Given the description of an element on the screen output the (x, y) to click on. 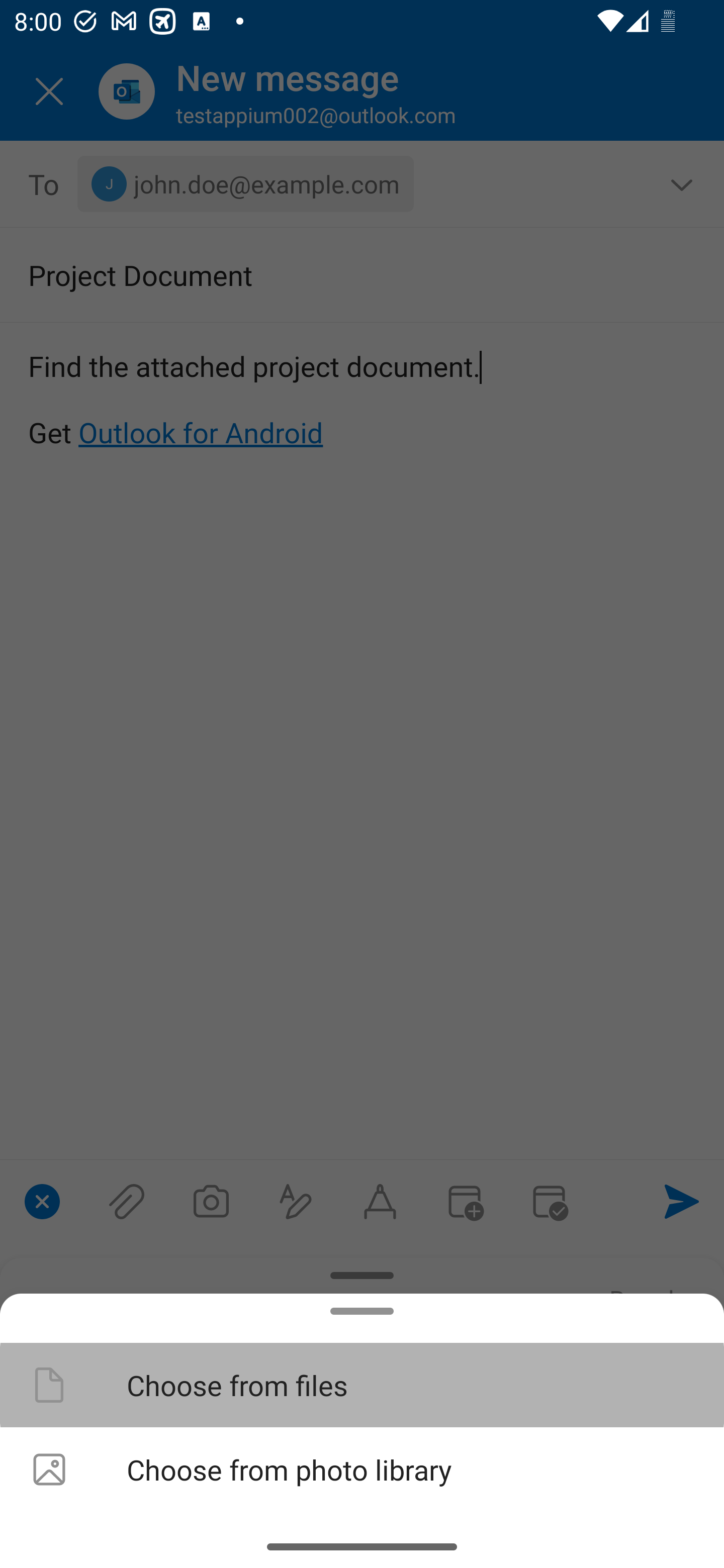
Choose from files (362, 1384)
Choose from photo library (362, 1468)
